Given the description of an element on the screen output the (x, y) to click on. 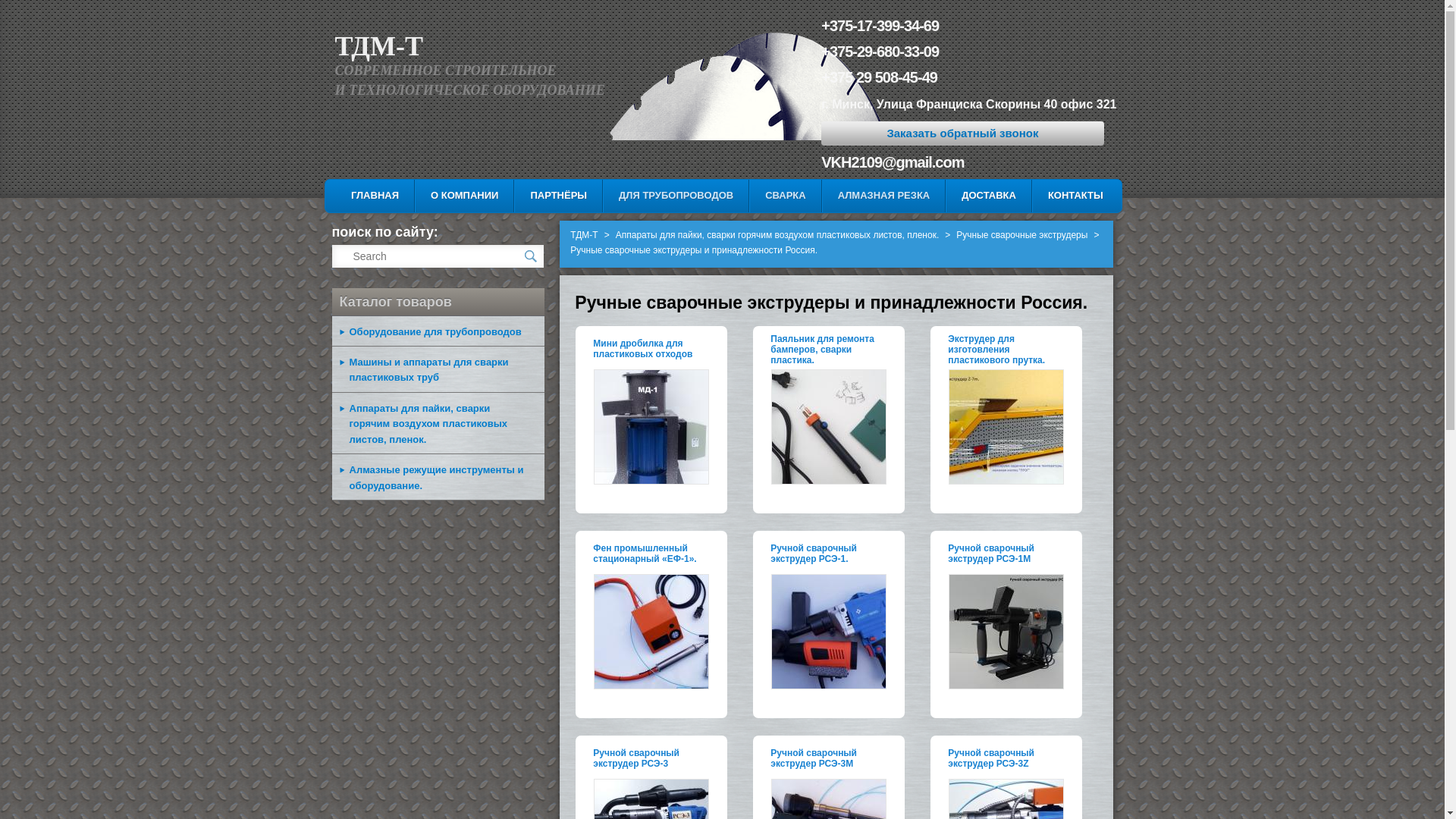
SKIP TO SECONDARY CONTENT Element type: text (432, 193)
SKIP TO PRIMARY CONTENT Element type: text (422, 193)
Search Element type: text (24, 8)
